Given the description of an element on the screen output the (x, y) to click on. 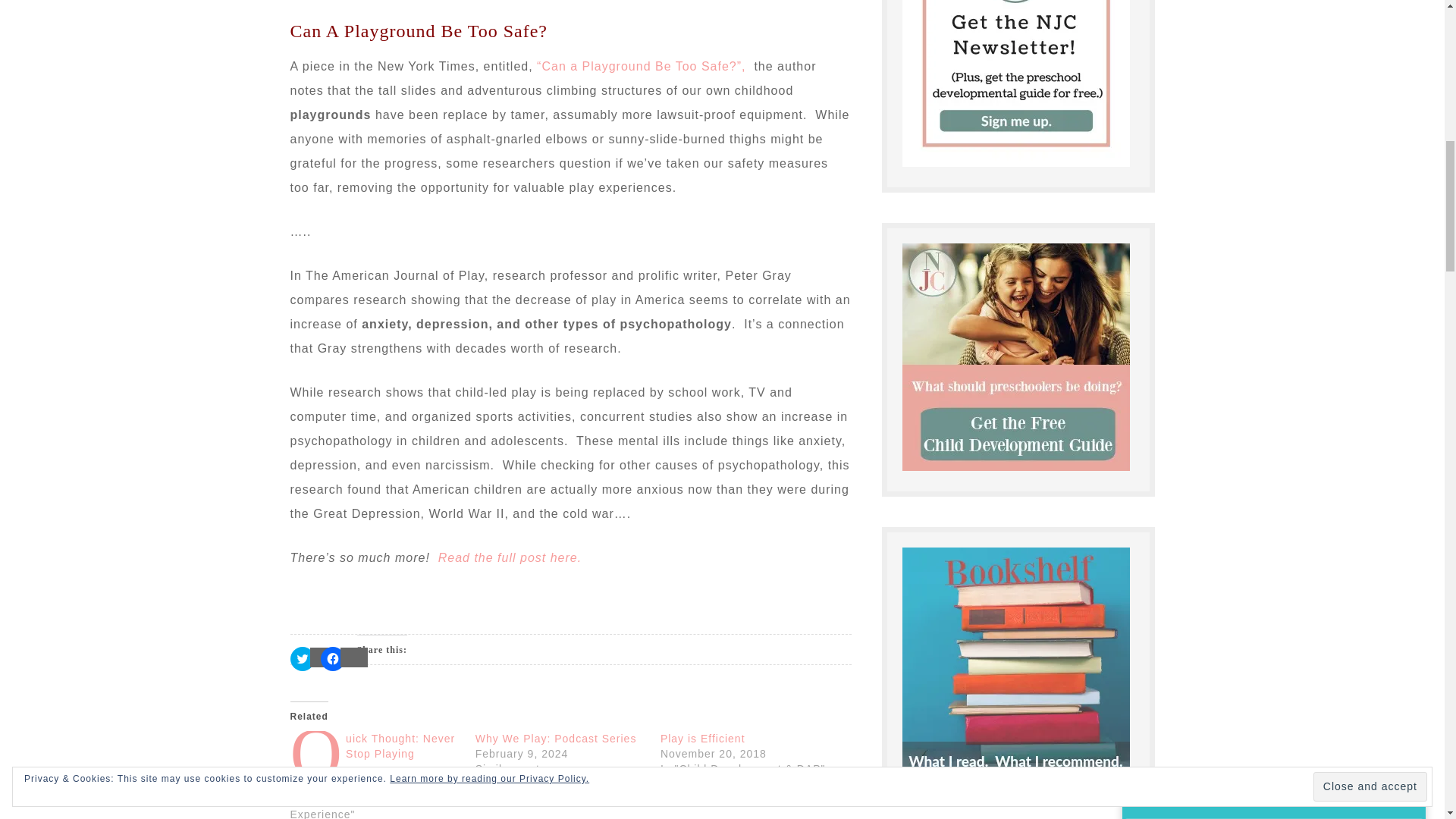
Quick Thought: Never Stop Playing (400, 746)
Quick Thought: Never Stop Playing (400, 746)
Play is Efficient (703, 738)
Click to share on Twitter (301, 658)
Read the full post here. (509, 557)
Why We Play: Podcast Series (556, 738)
Why We Play: Podcast Series (556, 738)
Play is Efficient (703, 738)
Close (1405, 19)
Click to share on Facebook (331, 658)
